Given the description of an element on the screen output the (x, y) to click on. 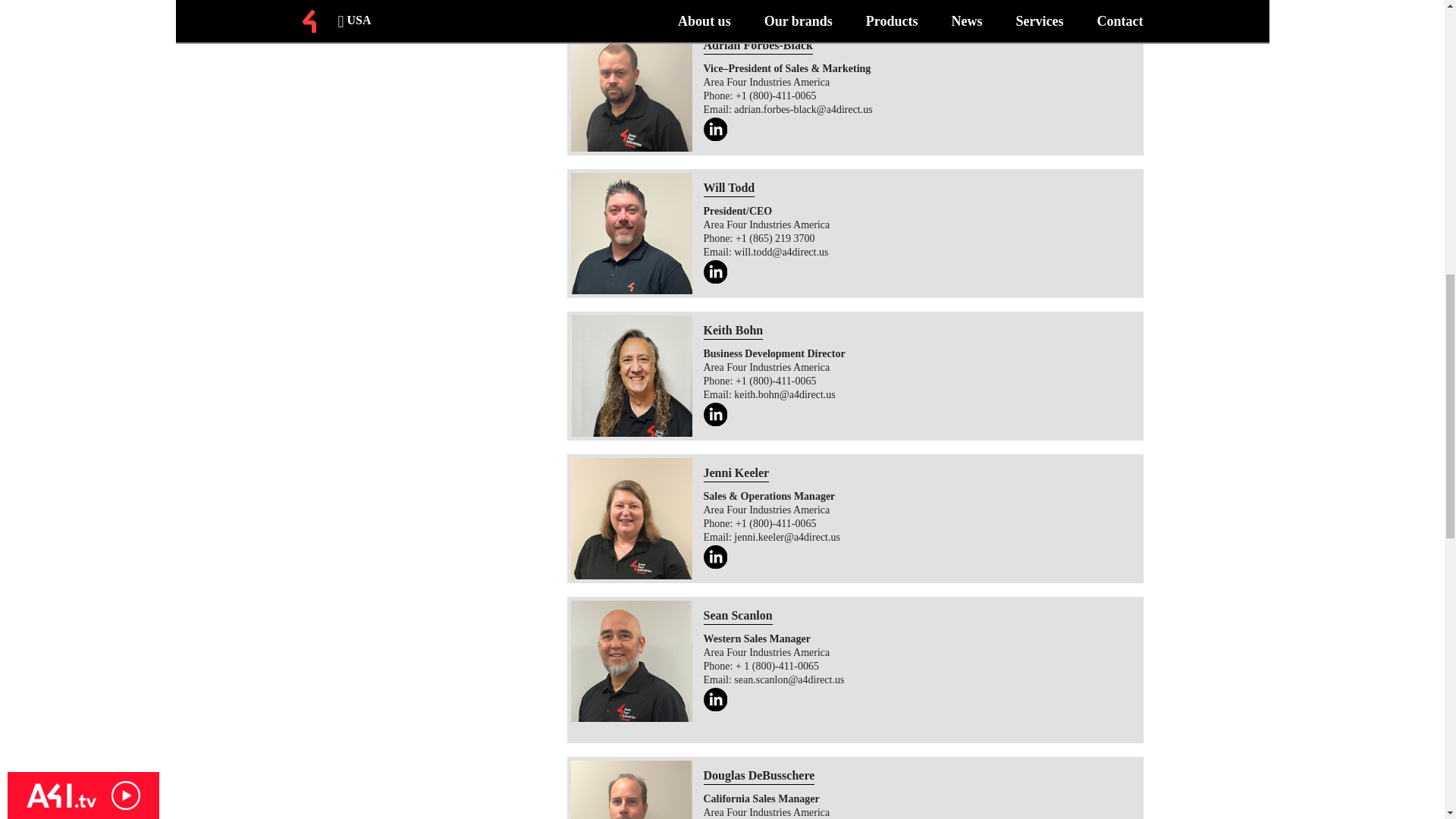
Will Todd (630, 233)
Adrian Forbes-Black (630, 90)
Keith Bohn (630, 375)
Sean Scanlon  (630, 660)
Jenni Keeler (630, 518)
Douglas DeBusschere (630, 789)
